Given the description of an element on the screen output the (x, y) to click on. 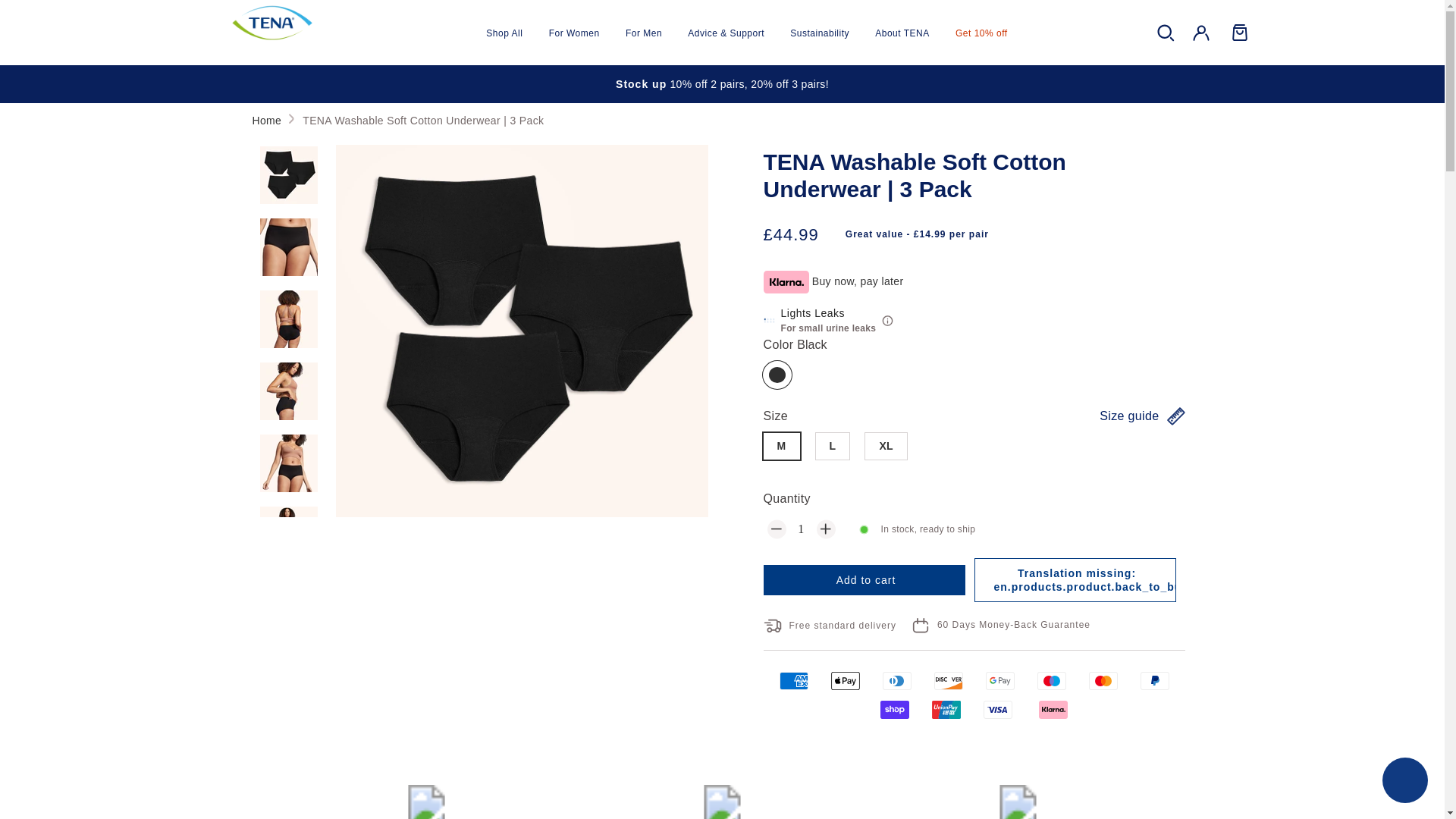
Cart (1238, 32)
Sustainability (819, 32)
Shop Pay (894, 710)
For Women (574, 32)
For Men (643, 32)
Apple Pay (845, 680)
Back to the frontpage (266, 120)
